Given the description of an element on the screen output the (x, y) to click on. 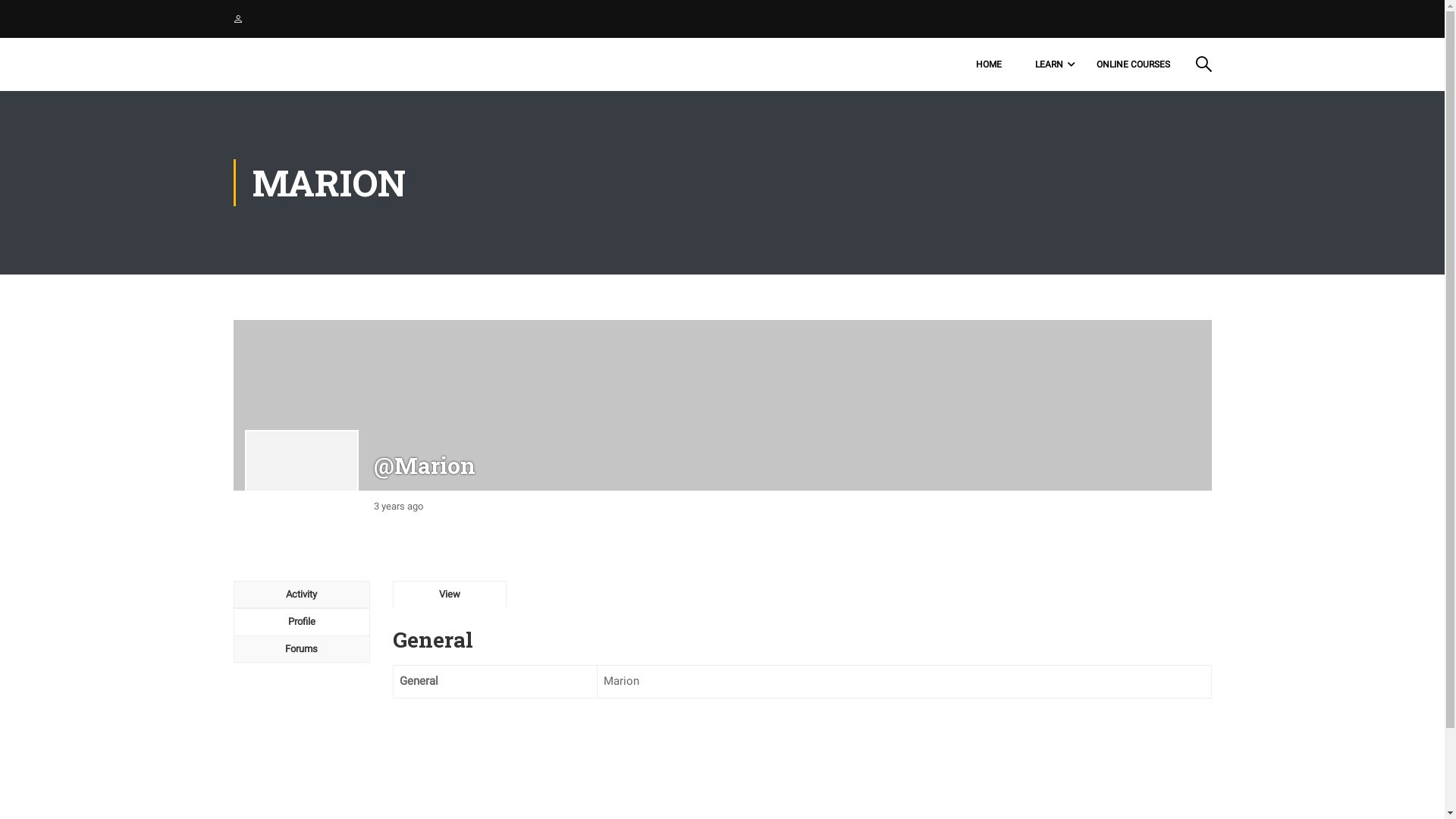
Activity Element type: text (301, 593)
Master Yang -  Element type: hover (291, 64)
Profile Element type: text (301, 621)
Login Element type: text (837, 412)
ONLINE COURSES Element type: text (1133, 64)
View Element type: text (449, 593)
Forums Element type: text (301, 648)
Sign up Element type: text (909, 457)
HOME Element type: text (988, 64)
